Given the description of an element on the screen output the (x, y) to click on. 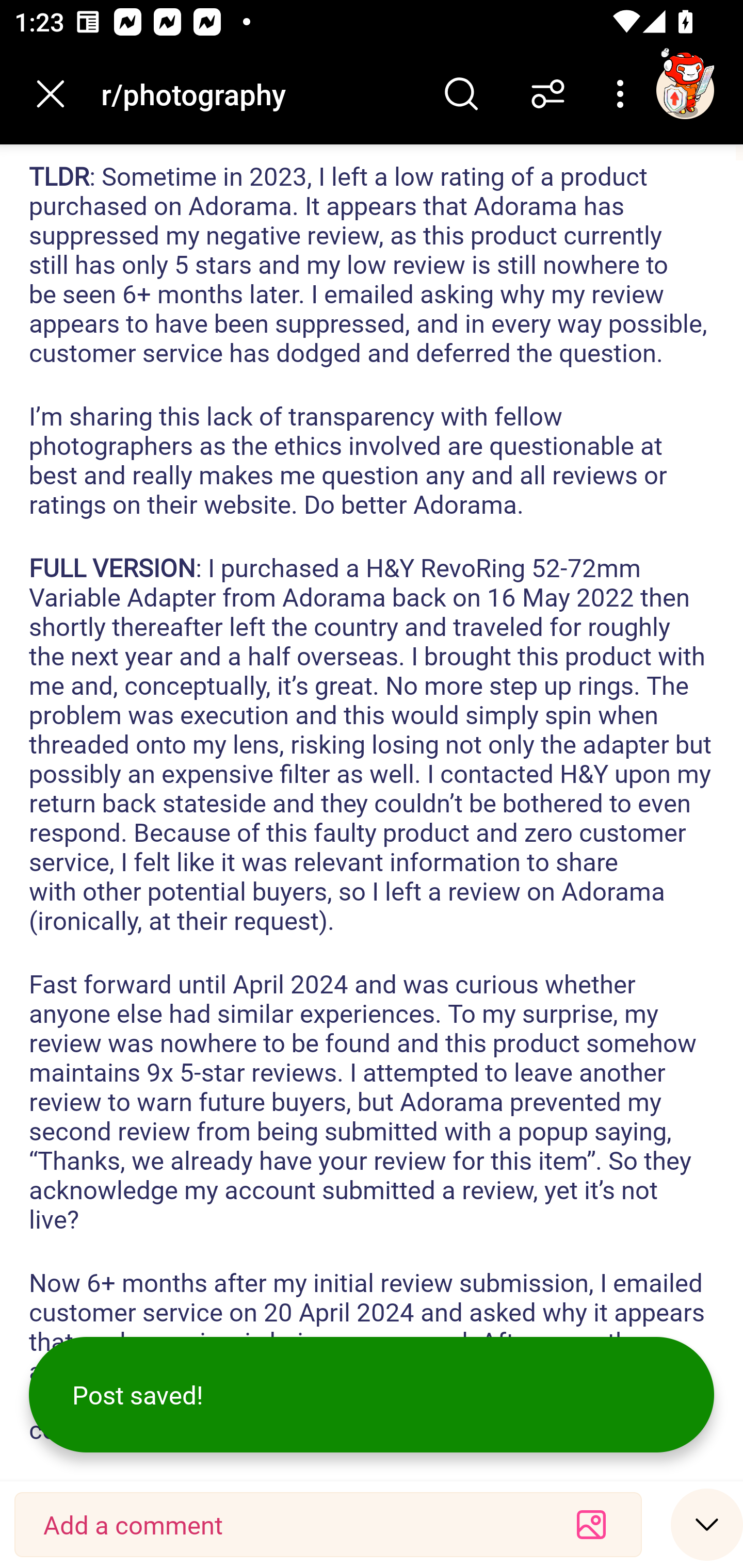
Back (50, 93)
TestAppium002 account (685, 90)
Search comments (460, 93)
Sort comments (547, 93)
More options (623, 93)
r/photography (259, 92)
Speed read (706, 1524)
Add a comment (291, 1524)
Add an image (590, 1524)
